Given the description of an element on the screen output the (x, y) to click on. 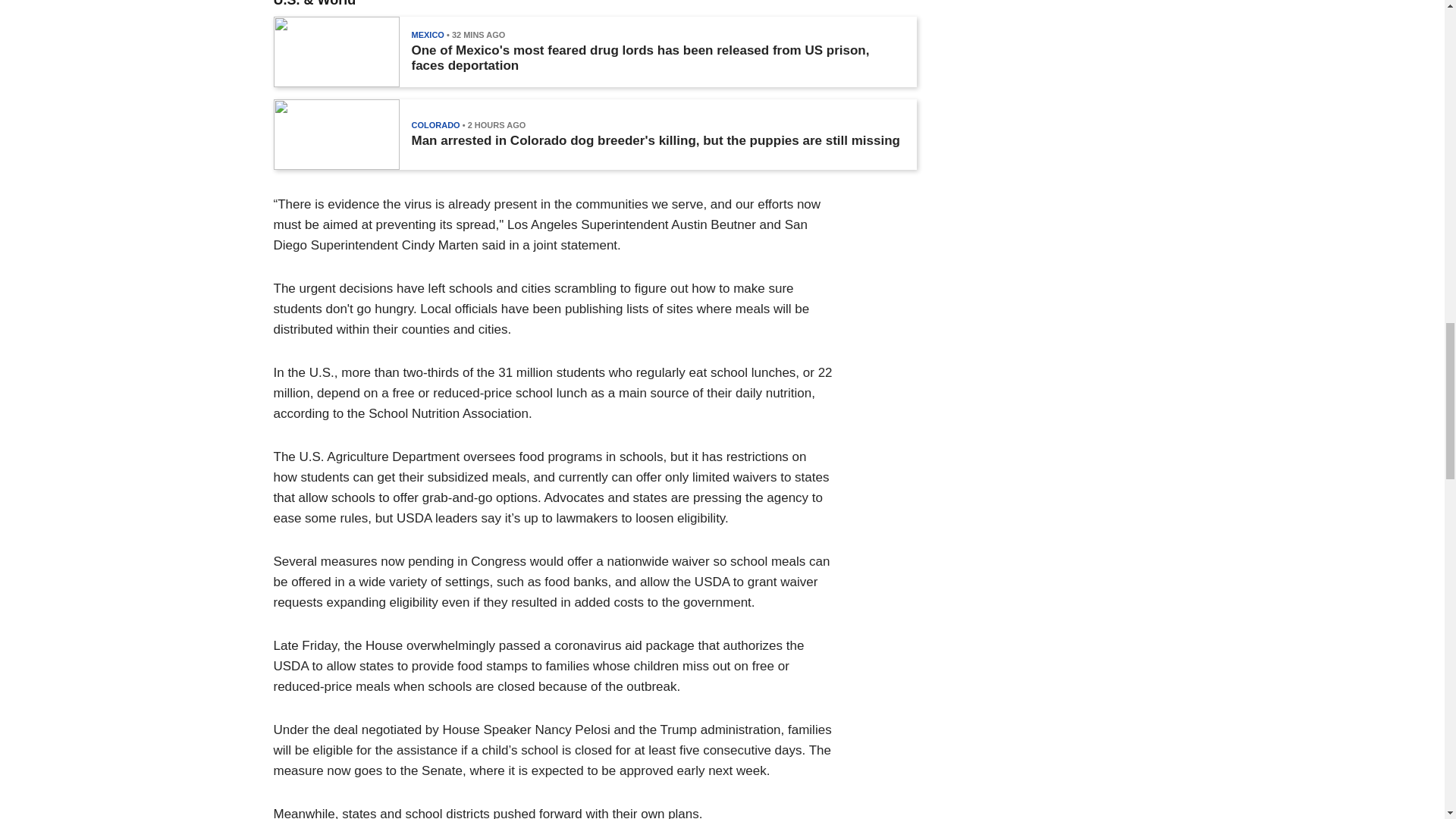
MEXICO (427, 34)
COLORADO (435, 124)
